Given the description of an element on the screen output the (x, y) to click on. 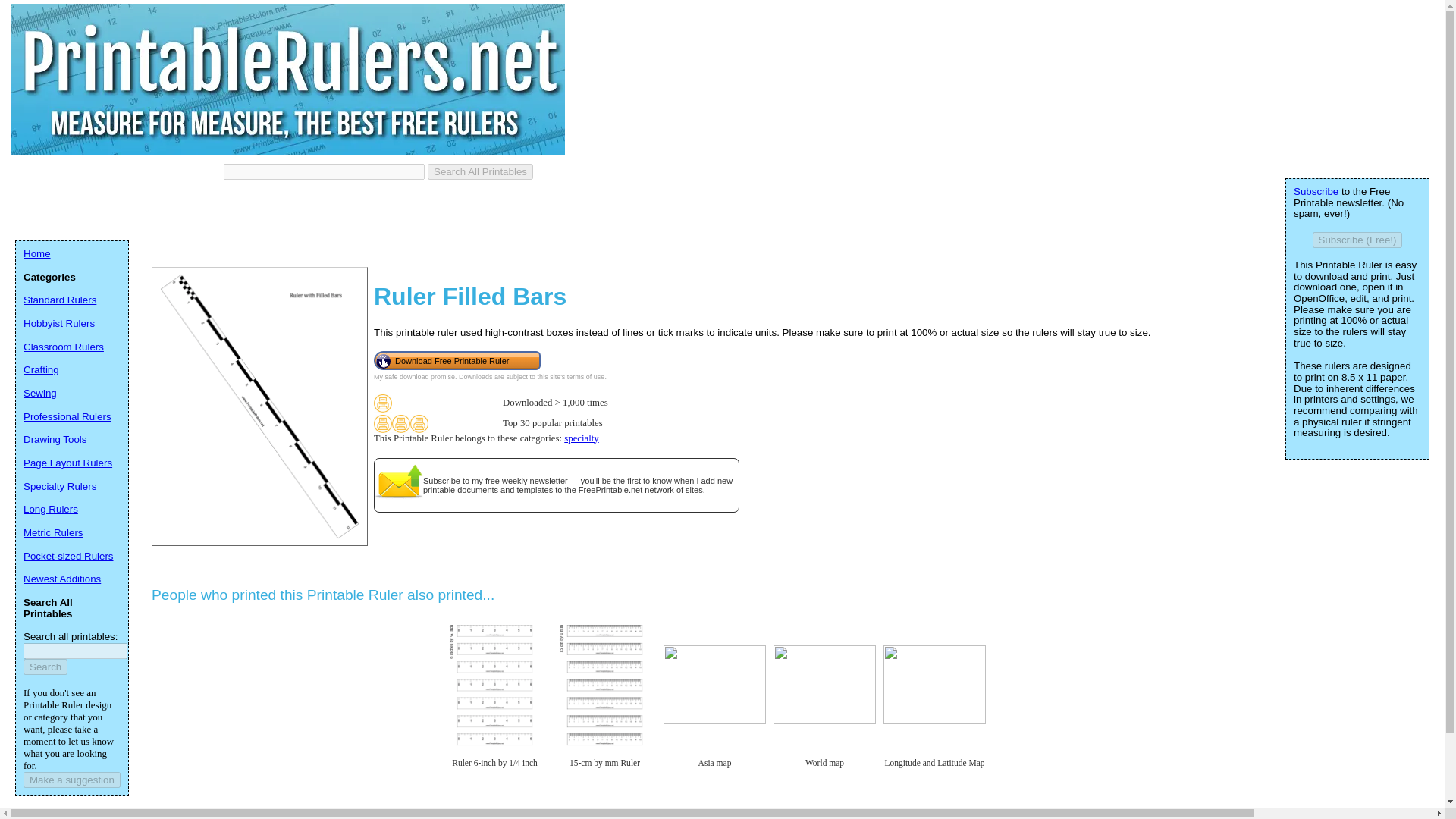
Subscribe (1316, 191)
specialty (581, 438)
Standard Rulers (59, 299)
FreePrintable.net (610, 489)
Subscribe (441, 480)
Sewing (39, 392)
Top 30 popular printables (382, 423)
Newest Additions (61, 578)
15-cm by mm Ruler (604, 774)
Drawing Tools (54, 439)
Asia map (714, 774)
Longitude and Latitude Map (934, 774)
Pocket-sized Rulers (68, 555)
My safe download promise (414, 376)
Search (44, 666)
